Given the description of an element on the screen output the (x, y) to click on. 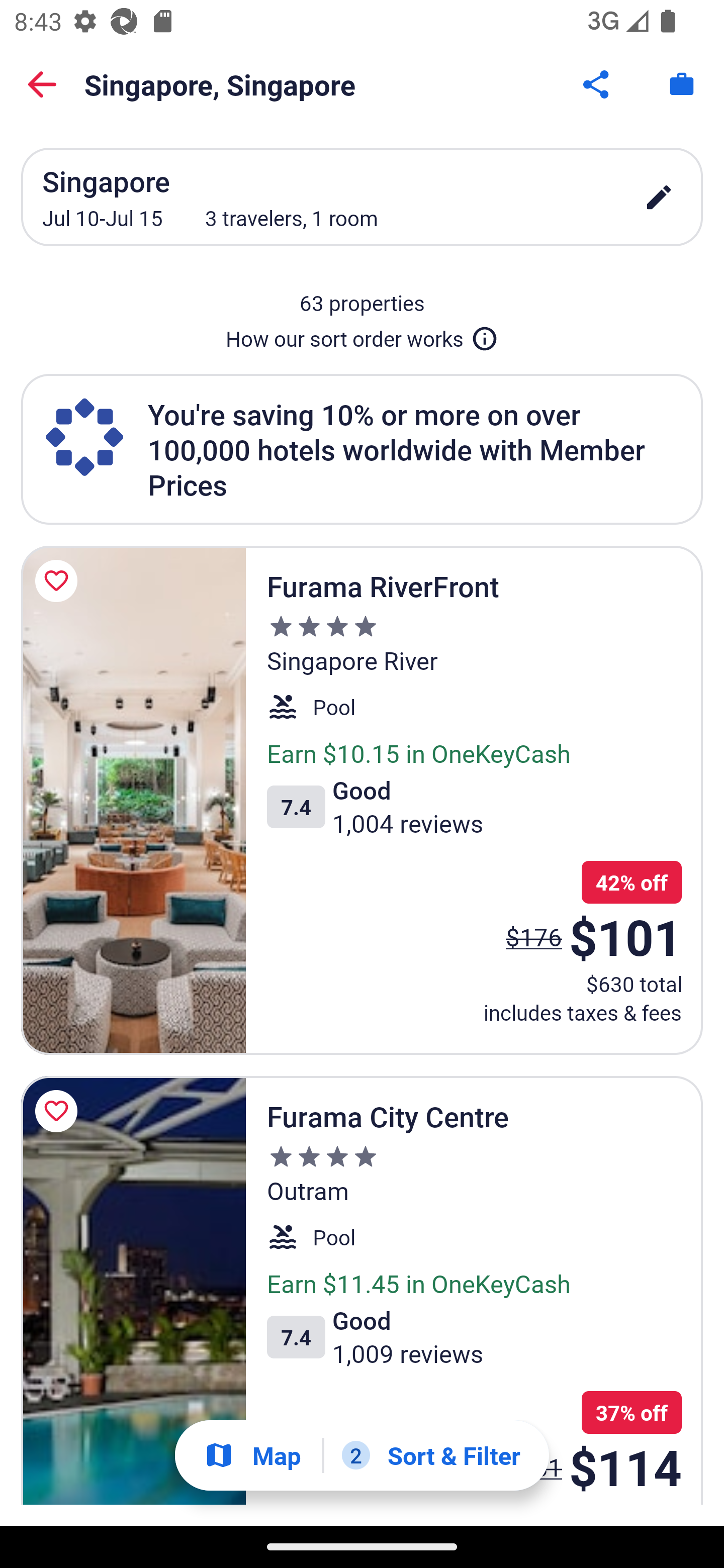
Back (42, 84)
Share Button (597, 84)
Trips. Button (681, 84)
Singapore Jul 10-Jul 15 3 travelers, 1 room edit (361, 196)
How our sort order works (361, 334)
Save Furama RiverFront to a trip (59, 580)
Furama RiverFront (133, 800)
$176 The price was $176 (533, 936)
Save Furama City Centre to a trip (59, 1111)
Furama City Centre (133, 1290)
2 Sort & Filter 2 Filters applied. Filters Button (430, 1455)
Show map Map Show map Button (252, 1455)
